Given the description of an element on the screen output the (x, y) to click on. 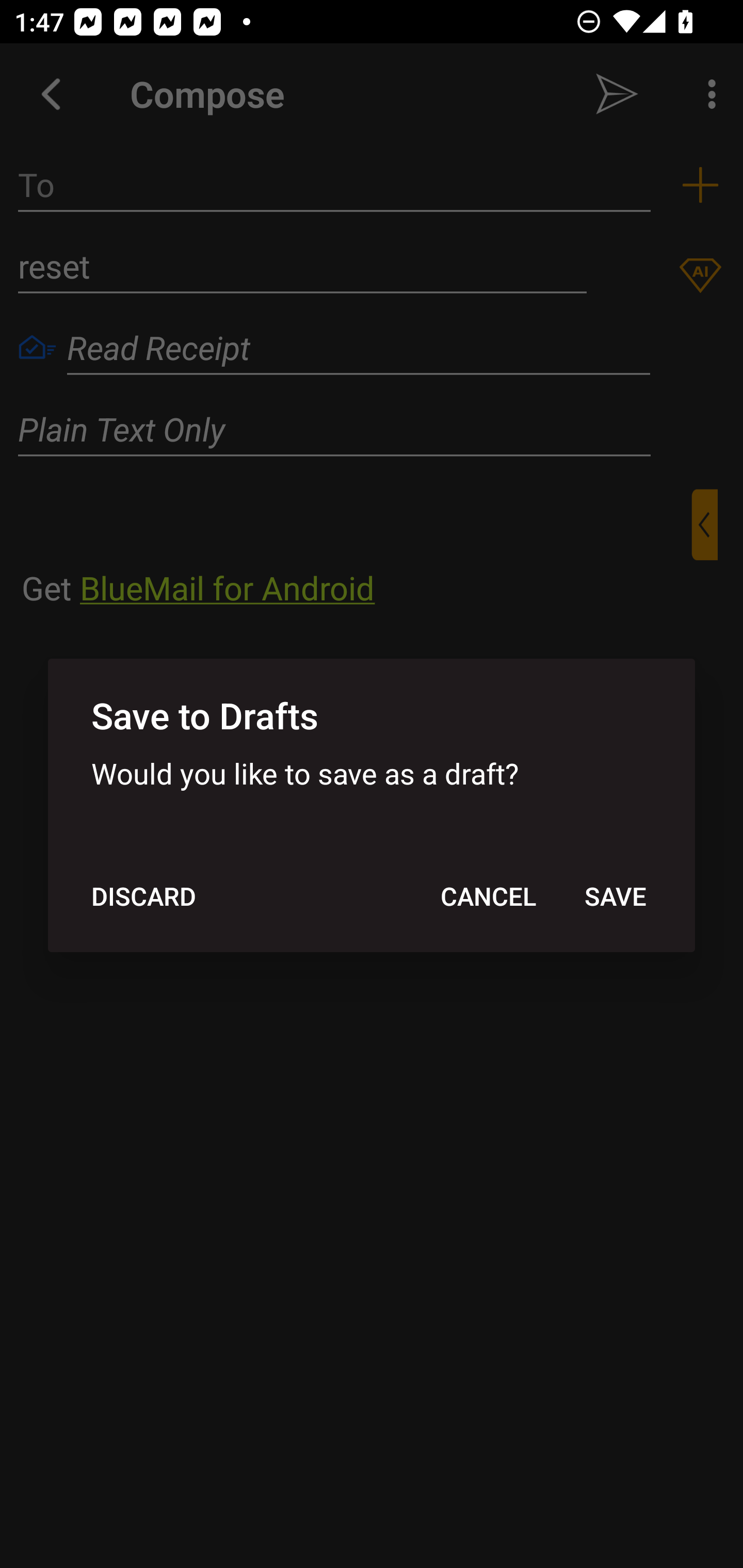
DISCARD (143, 895)
CANCEL (488, 895)
SAVE (615, 895)
